Given the description of an element on the screen output the (x, y) to click on. 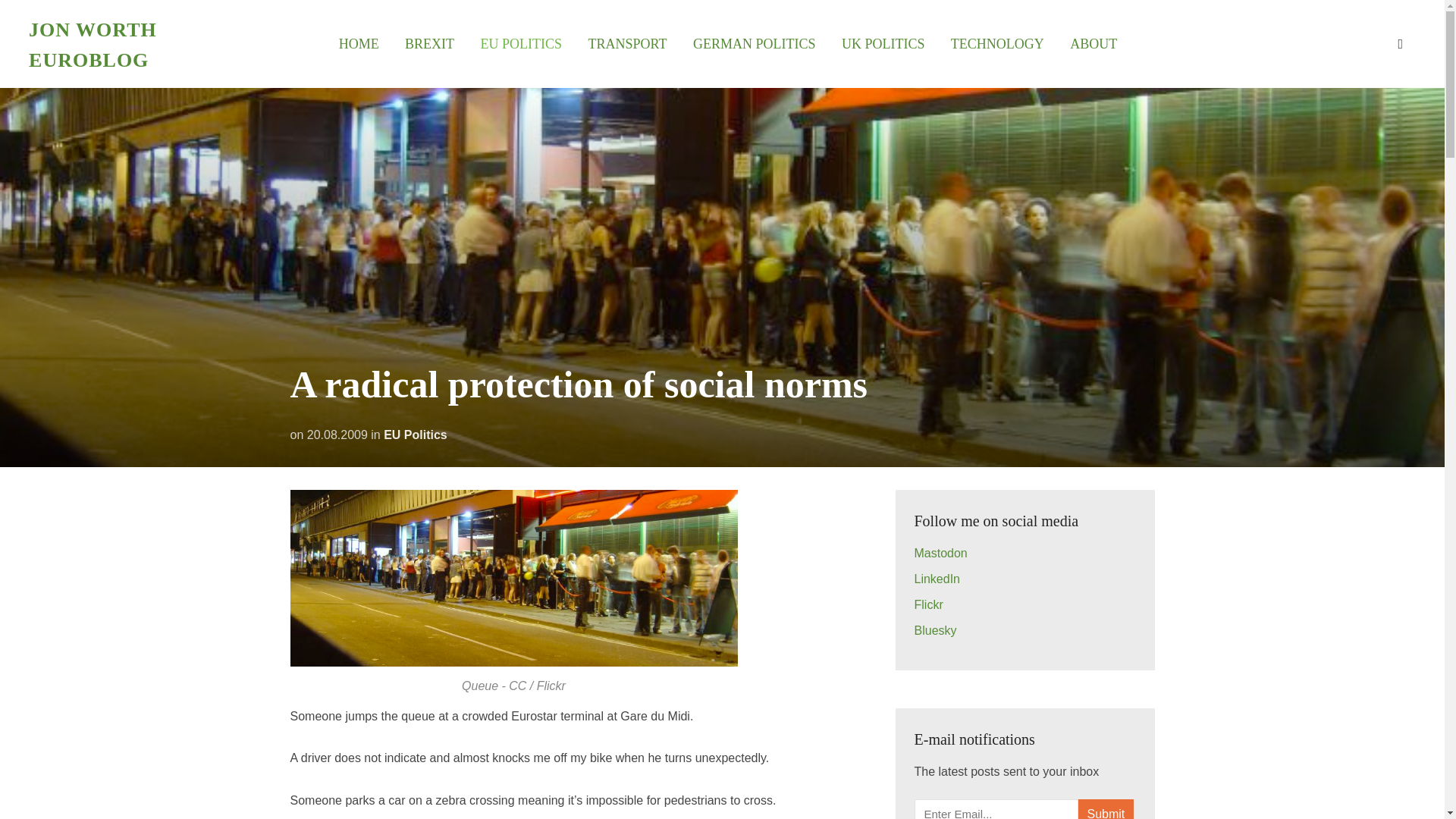
BREXIT (429, 43)
GERMAN POLITICS (754, 43)
UK POLITICS (882, 43)
EU POLITICS (521, 43)
ABOUT (1093, 43)
HOME (358, 43)
JON WORTH EUROBLOG (93, 44)
TRANSPORT (627, 43)
withspacer (1093, 43)
Submit (1106, 809)
TECHNOLOGY (996, 43)
